Given the description of an element on the screen output the (x, y) to click on. 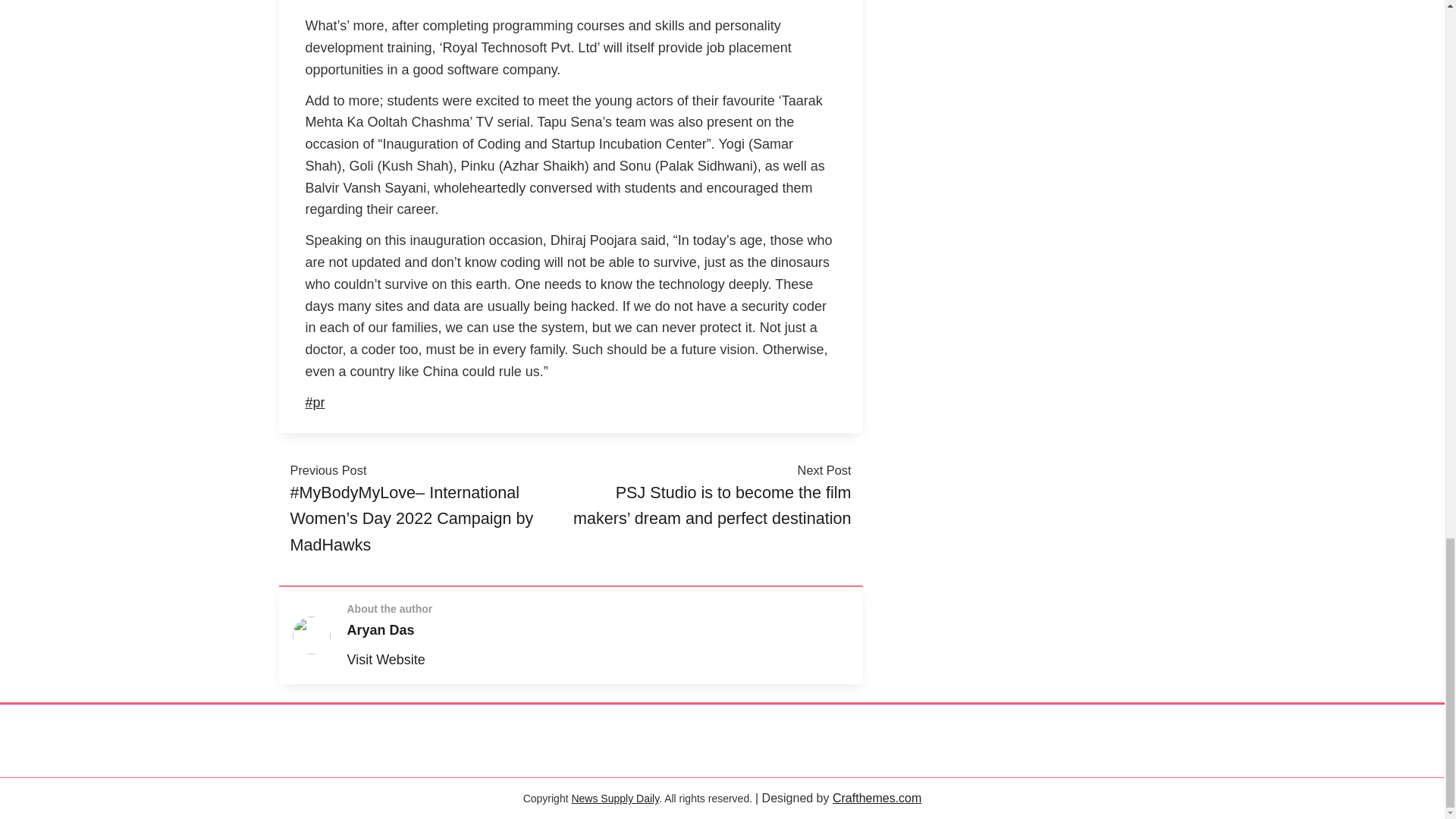
Aryan Das (380, 630)
Visit Website (386, 659)
